Given the description of an element on the screen output the (x, y) to click on. 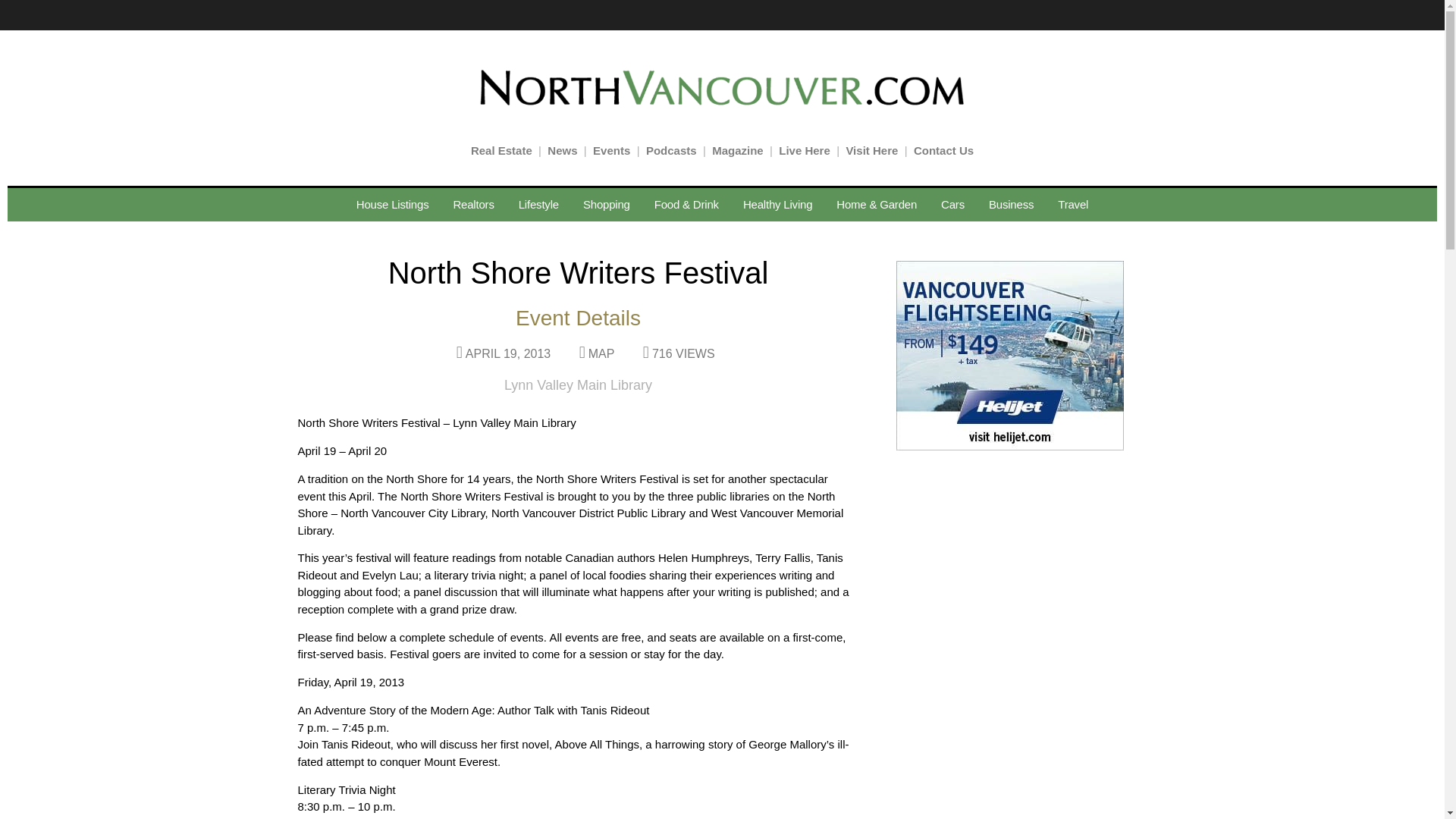
Advertisement (1005, 744)
Visit Here (871, 150)
Lifestyle (538, 204)
Podcasts (671, 150)
Contact Us (944, 150)
News (561, 150)
Magazine (736, 150)
Realtors (473, 204)
Real Estate (501, 150)
Advertisement (1005, 560)
